Given the description of an element on the screen output the (x, y) to click on. 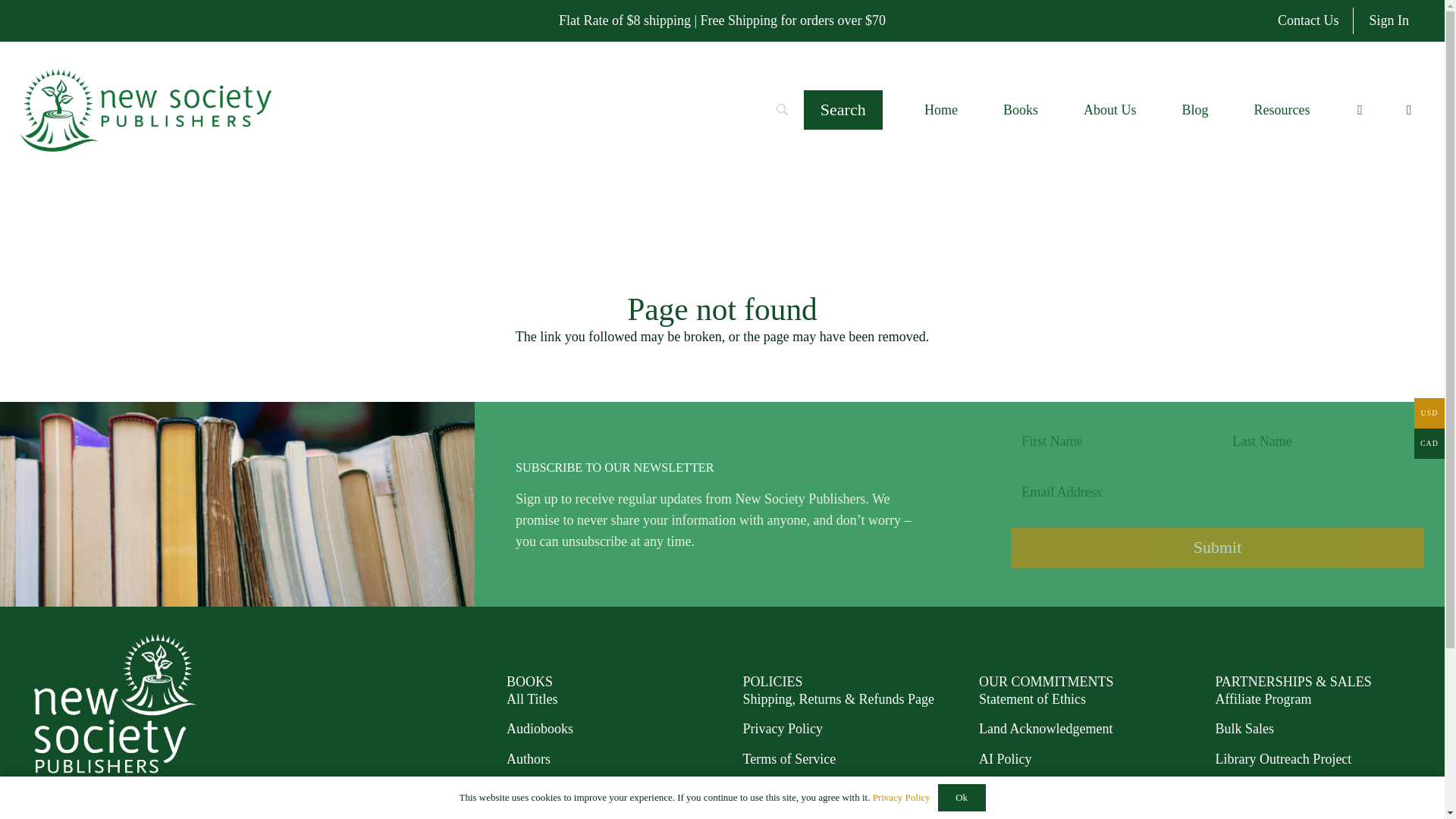
Search (842, 110)
About Us (1109, 109)
Home (940, 109)
Submit (1216, 547)
Search (842, 110)
Search (842, 110)
Sign In (1388, 20)
Contact Us (1308, 20)
Blog (1194, 109)
Books (1020, 109)
Resources (1281, 109)
